Given the description of an element on the screen output the (x, y) to click on. 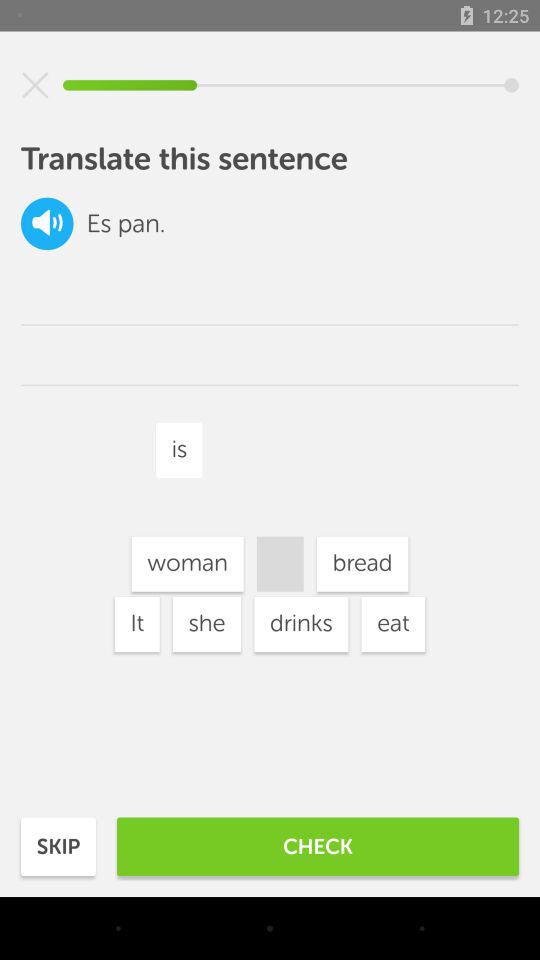
turn on the icon to the right of the it icon (206, 624)
